Given the description of an element on the screen output the (x, y) to click on. 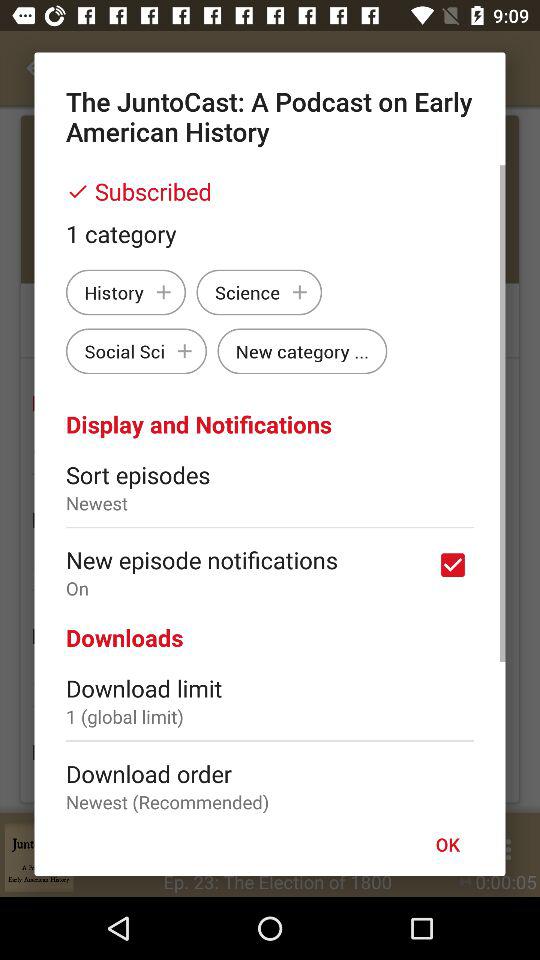
turn on item below subscribed (269, 233)
